Given the description of an element on the screen output the (x, y) to click on. 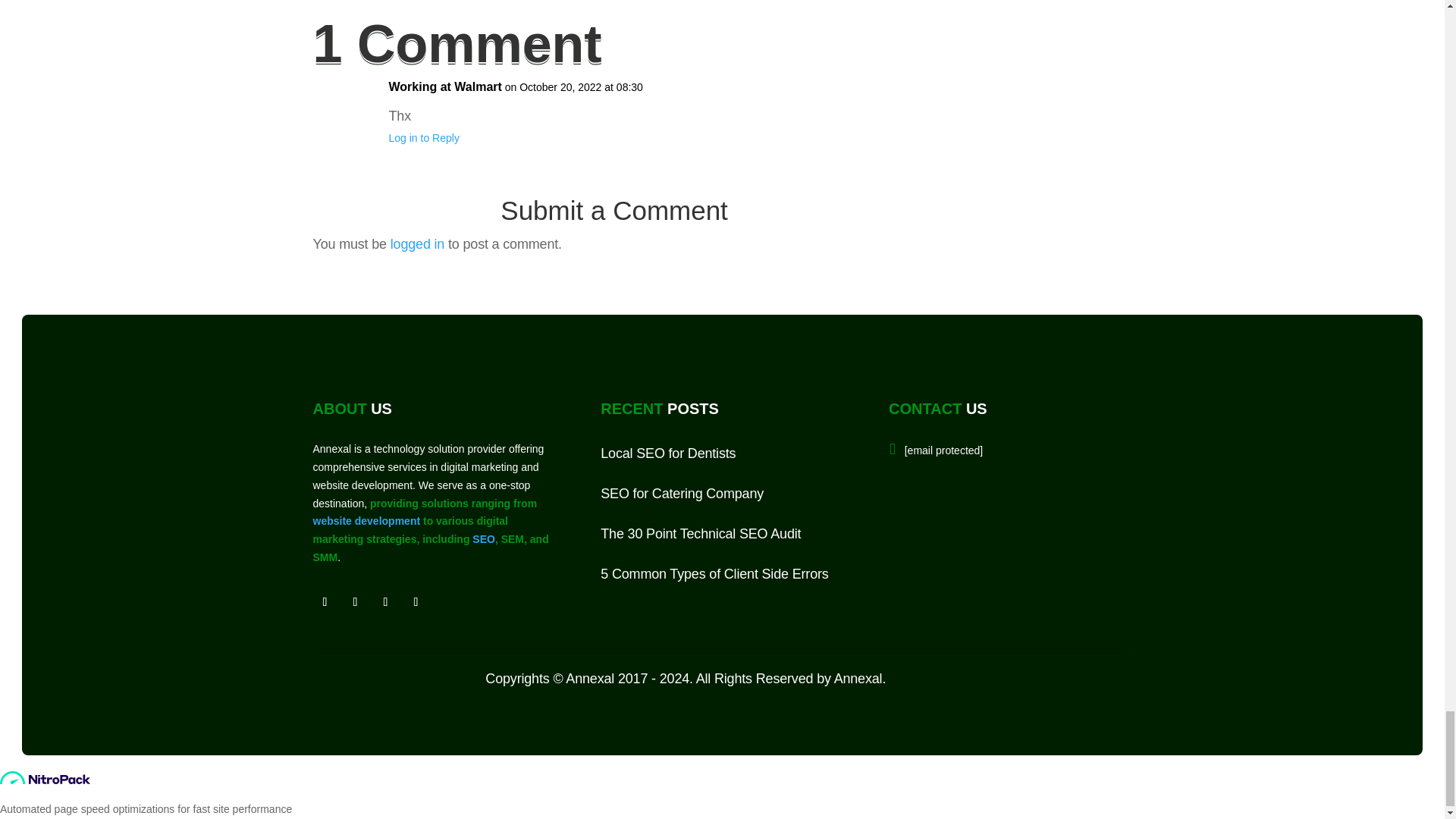
logged in (417, 243)
Working at Walmart (444, 86)
Log in to Reply (423, 137)
